Given the description of an element on the screen output the (x, y) to click on. 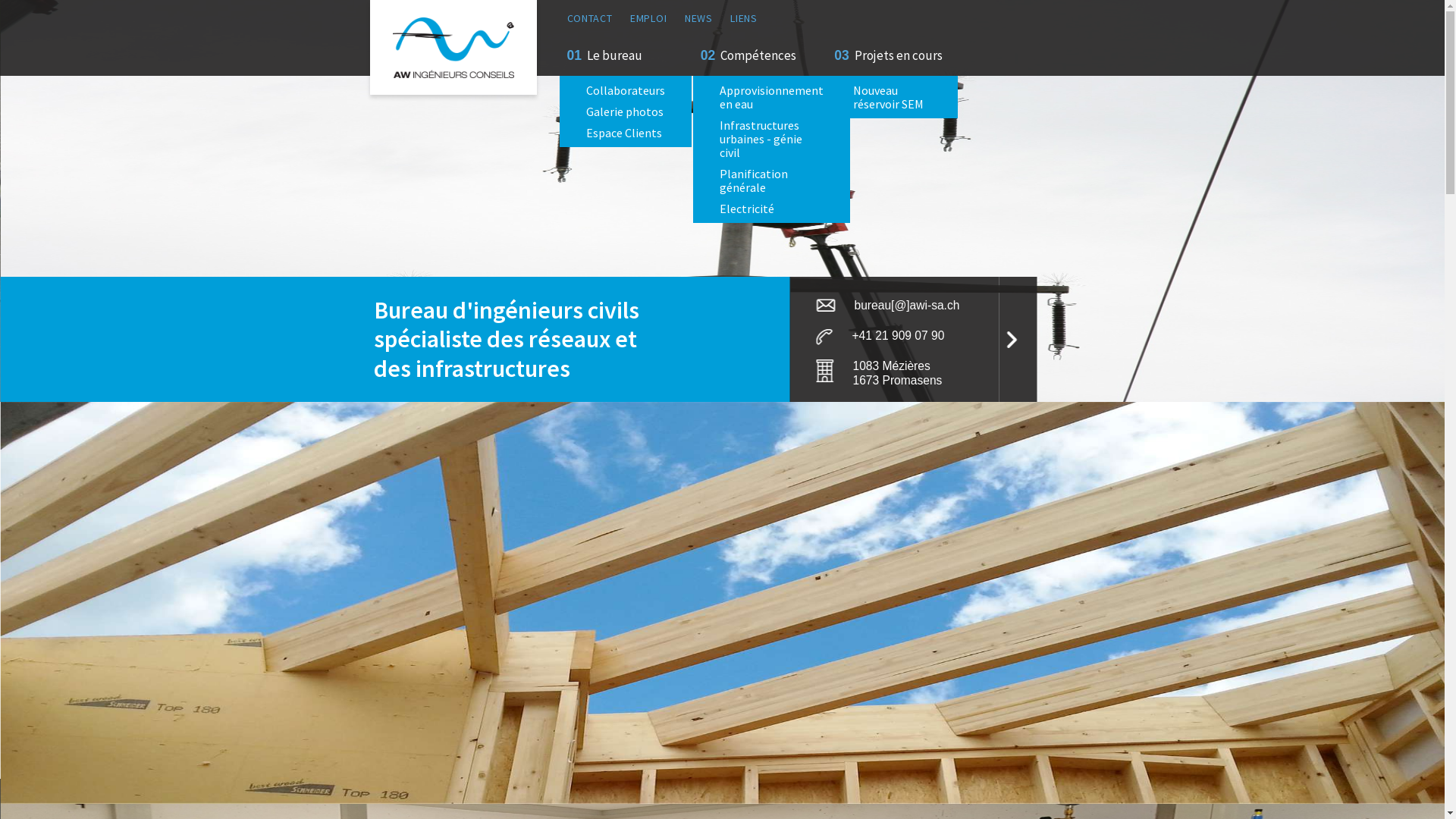
Projets en cours Element type: text (894, 56)
Espace Clients Element type: text (623, 132)
Approvisionnement en eau Element type: text (771, 96)
LIENS Element type: text (743, 18)
Le bureau Element type: text (610, 56)
NEWS Element type: text (698, 18)
awi-sa.ch Element type: text (453, 47)
EMPLOI Element type: text (648, 18)
Collaborateurs Element type: text (625, 89)
sdvbv411@gmail.com Element type: text (566, 698)
ATTENTION - ARNAQUE A L'ANNUAIRE Element type: text (469, 515)
Galerie photos Element type: text (624, 111)
CONTACT Element type: text (589, 18)
